Given the description of an element on the screen output the (x, y) to click on. 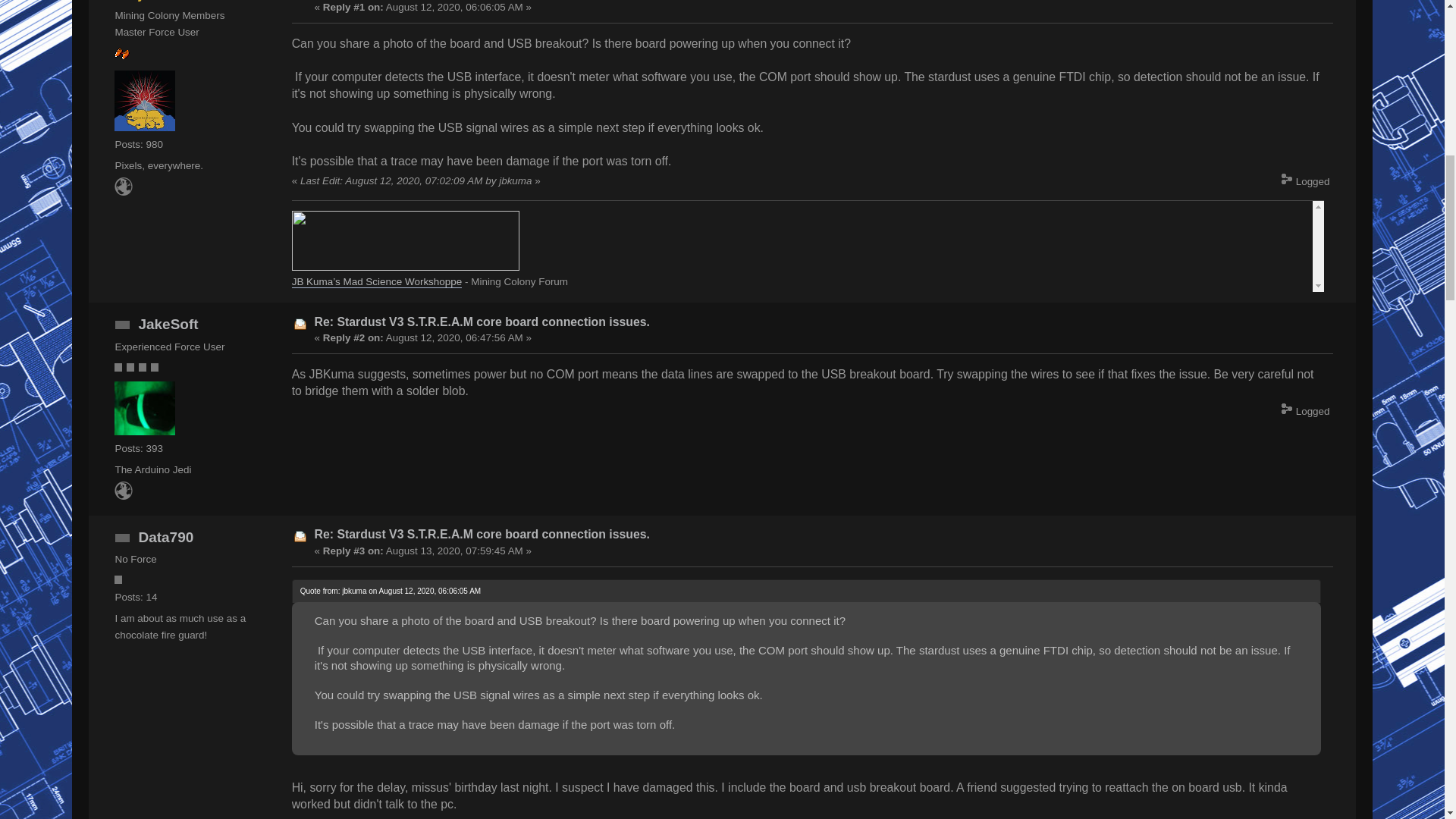
View the profile of JakeSoft (168, 324)
Data790 (165, 537)
Universal Saber Library (123, 496)
Re: Stardust V3 S.T.R.E.A.M core board connection issues. (481, 321)
JakeSoft (168, 324)
Re: Stardust V3 S.T.R.E.A.M core board connection issues. (481, 533)
Quote from: jbkuma on August 12, 2020, 06:06:05 AM (390, 591)
View the profile of Data790 (165, 537)
Mad Science Workshoppe (123, 192)
jbkuma (163, 0)
View the profile of jbkuma (163, 0)
